Given the description of an element on the screen output the (x, y) to click on. 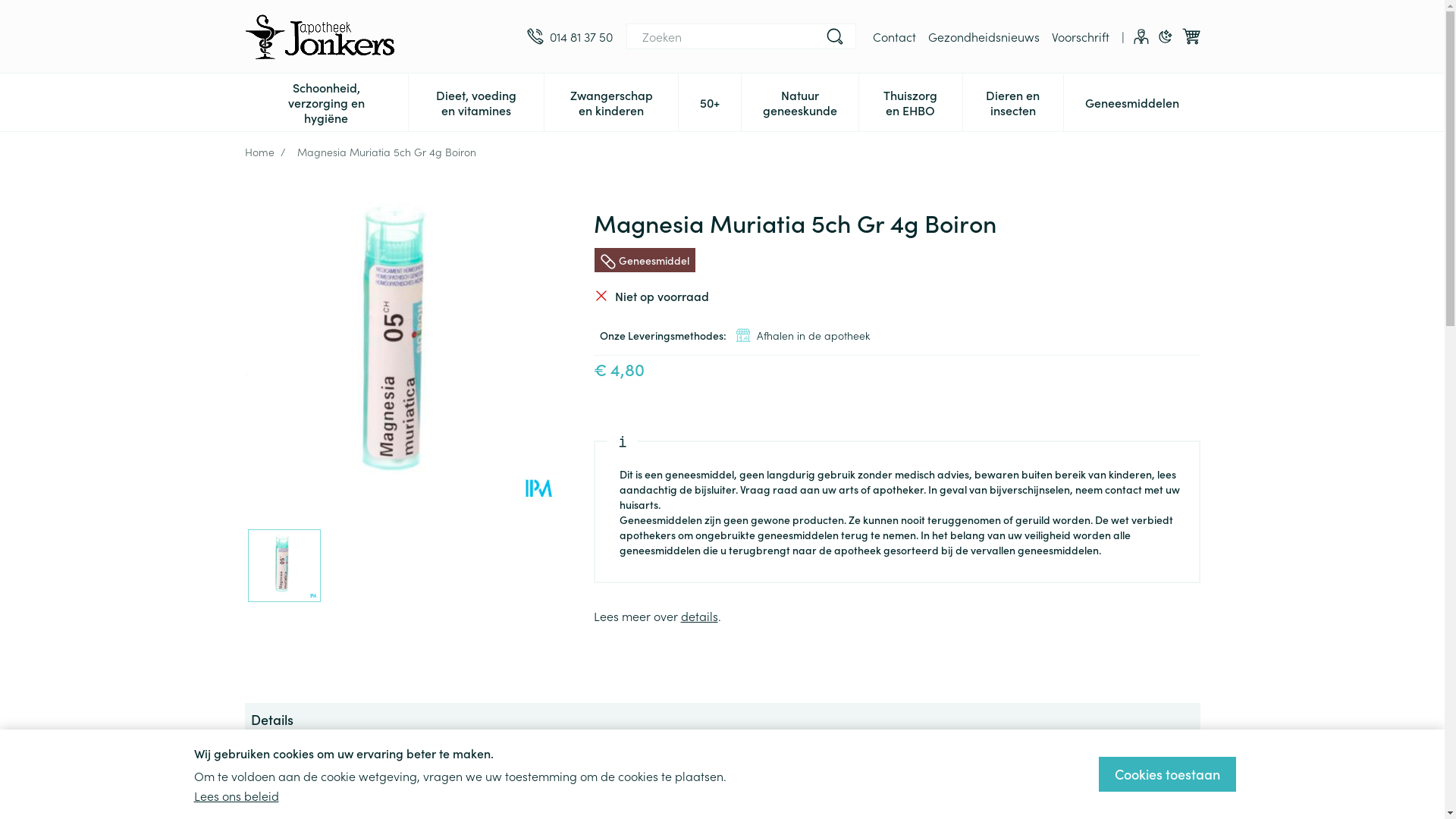
Gezondheidsnieuws Element type: text (983, 36)
Magnesia Muriatia 5ch Gr 4g Boiron Element type: hover (403, 348)
Cookies toestaan Element type: text (1166, 773)
Contact Element type: text (893, 36)
Lees ons beleid Element type: text (236, 795)
Voorschrift Element type: text (1079, 36)
Thuiszorg en EHBO Element type: text (910, 100)
014 81 37 50 Element type: text (568, 36)
Geneesmiddelen Element type: text (1131, 100)
Apotheek Jonkers Ilse Element type: hover (379, 36)
Donkere modus Element type: text (1164, 35)
Winkelwagen Element type: text (1190, 36)
Natuur geneeskunde Element type: text (799, 100)
Dieren en insecten Element type: text (1013, 100)
Home Element type: text (258, 151)
Klant menu Element type: text (1140, 35)
Magnesia Muriatia 5ch Gr 4g Boiron Element type: hover (284, 565)
50+ Element type: text (709, 100)
Apotheek Jonkers Ilse Element type: hover (319, 36)
Dieet, voeding en vitamines Element type: text (475, 100)
Zoeken Element type: text (834, 36)
Zwangerschap en kinderen Element type: text (610, 100)
